Given the description of an element on the screen output the (x, y) to click on. 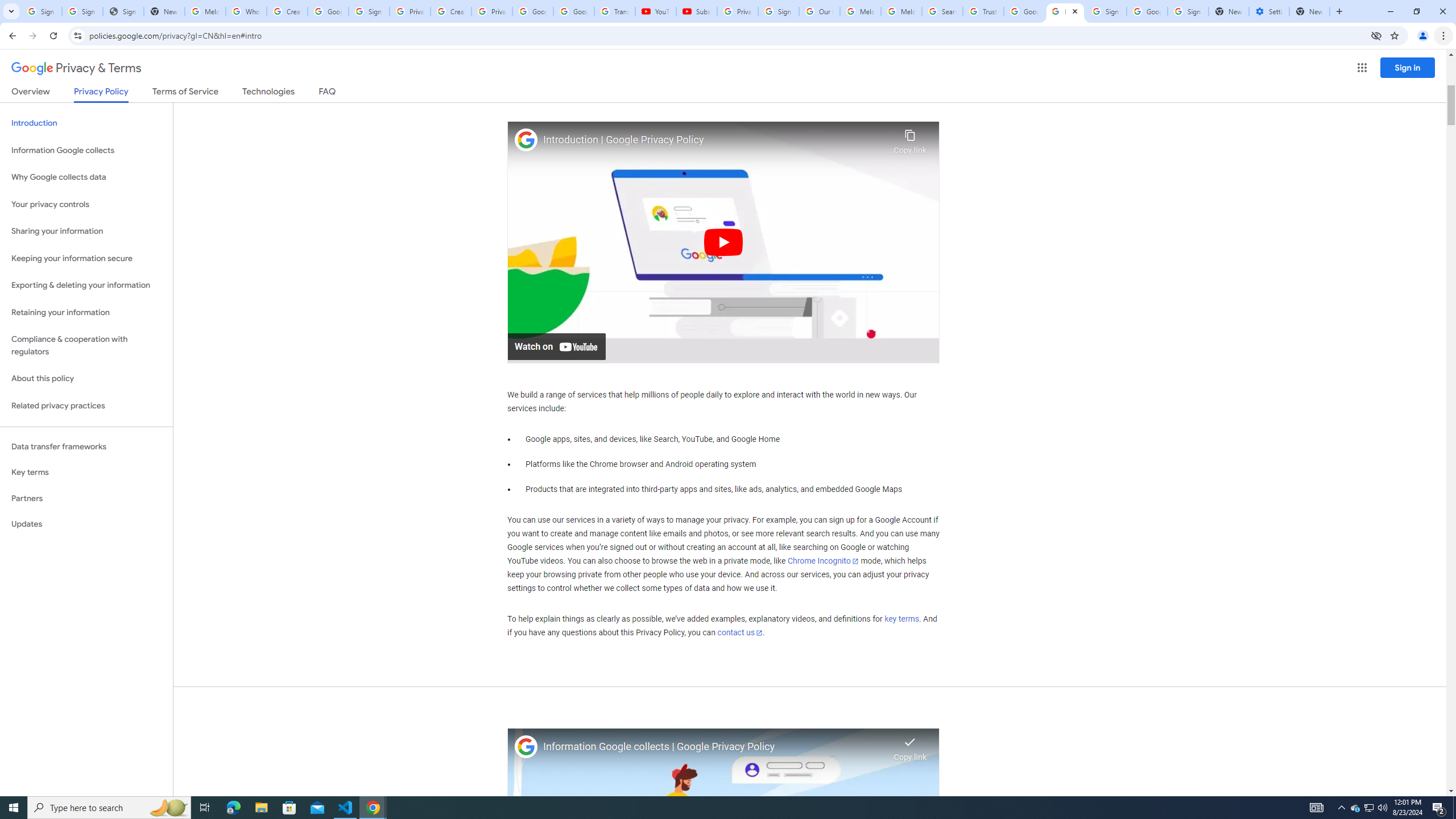
Partners (86, 497)
Trusted Information and Content - Google Safety Center (983, 11)
Google Account (573, 11)
Create your Google Account (450, 11)
Your privacy controls (86, 204)
Subscriptions - YouTube (696, 11)
Retaining your information (86, 312)
Sign in - Google Accounts (1105, 11)
Settings - Addresses and more (1268, 11)
